Given the description of an element on the screen output the (x, y) to click on. 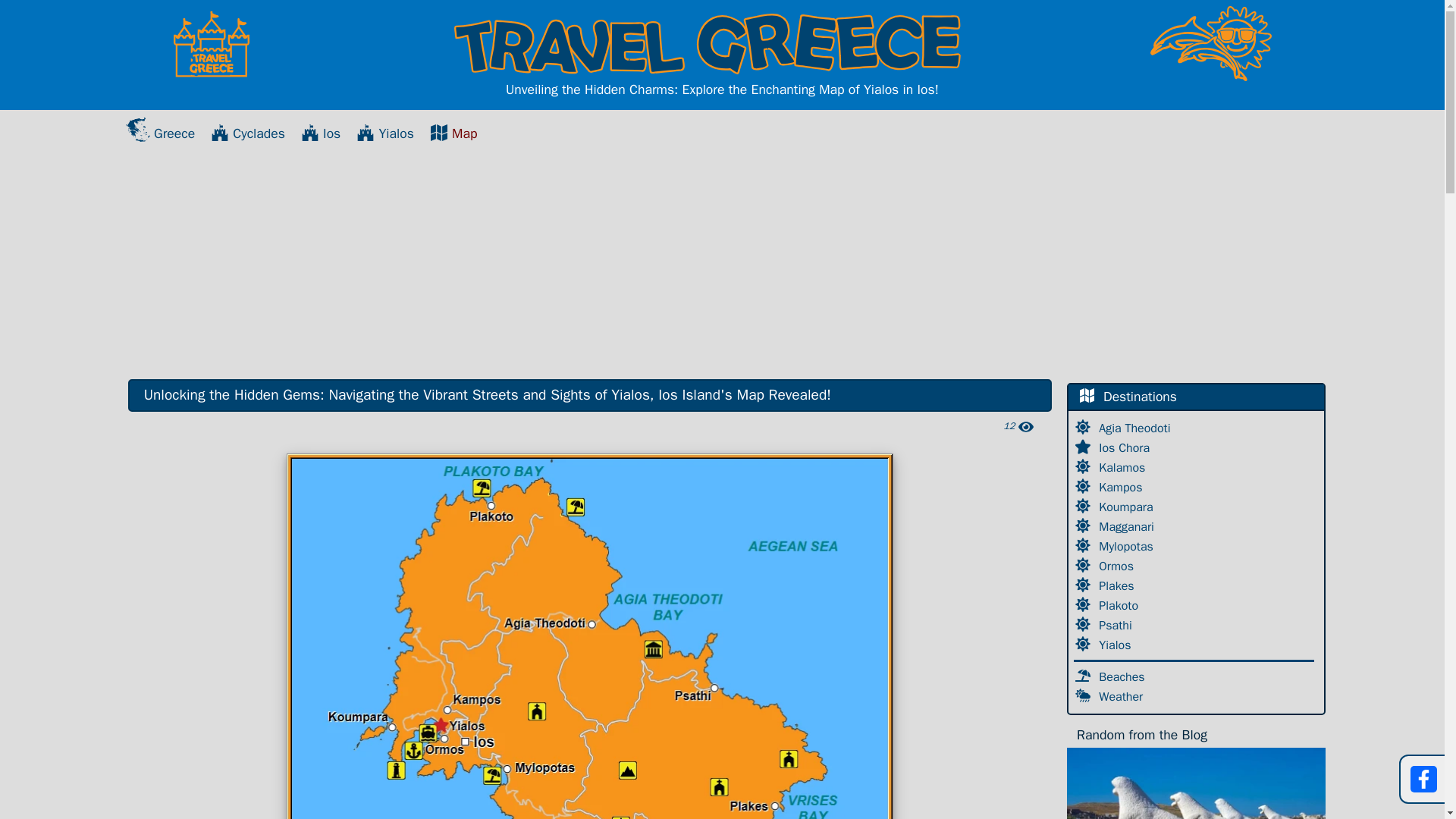
Kampos (1122, 487)
Ios Chora (1126, 447)
Plakes (1118, 585)
Kalamos (1123, 467)
Cyclades (248, 133)
Mylopotas (1128, 546)
Magganari (1128, 526)
Agia Theodoti (1136, 427)
Psathi (1117, 625)
Weather (1123, 696)
Koumpara (1127, 507)
Ormos (1118, 566)
Top 10 Best Greek Islands for History Buffs (1195, 783)
Top 10 Best Greek Islands for History Buffs (1195, 783)
